Given the description of an element on the screen output the (x, y) to click on. 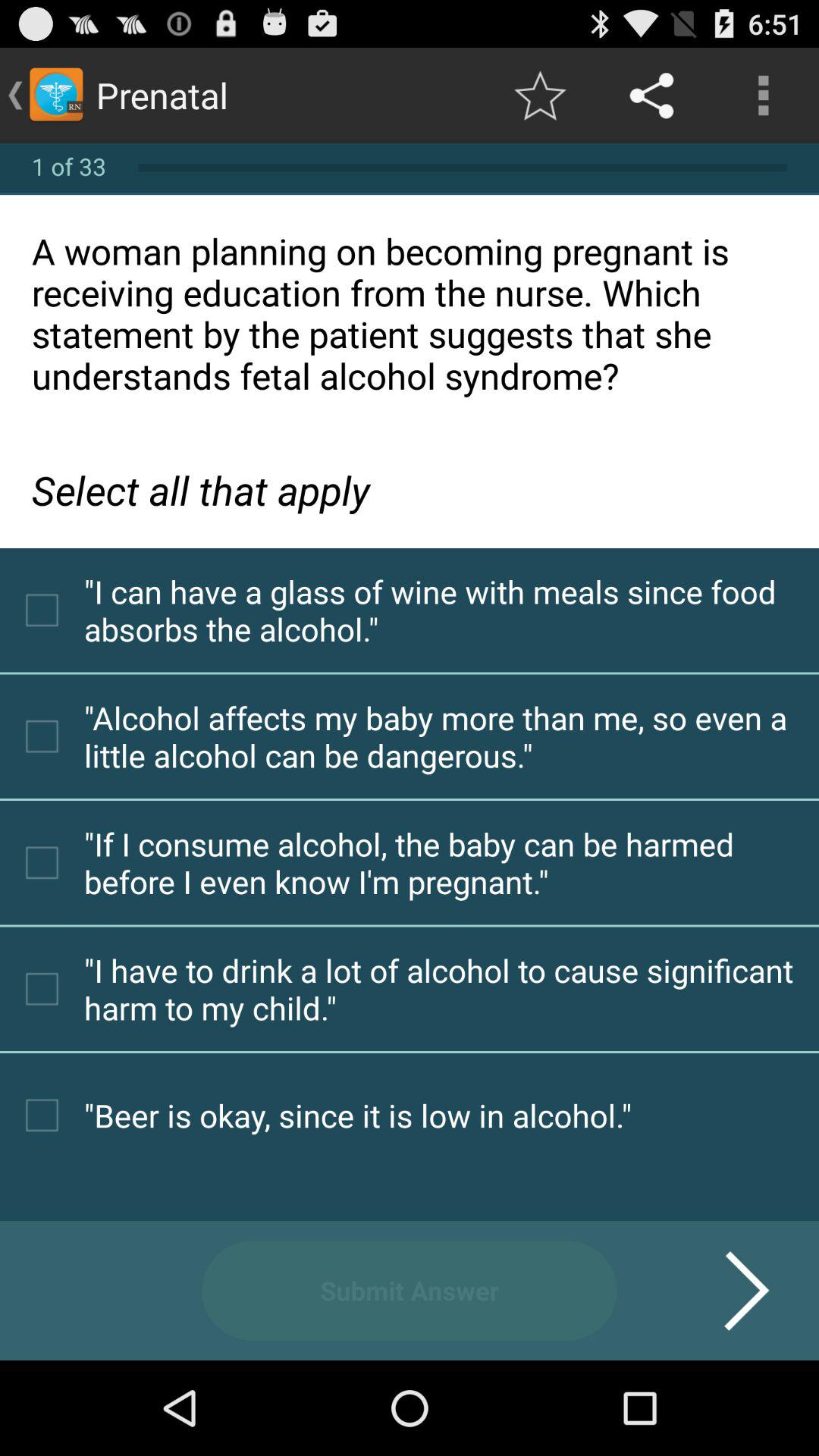
swipe to the submit answer button (409, 1290)
